Given the description of an element on the screen output the (x, y) to click on. 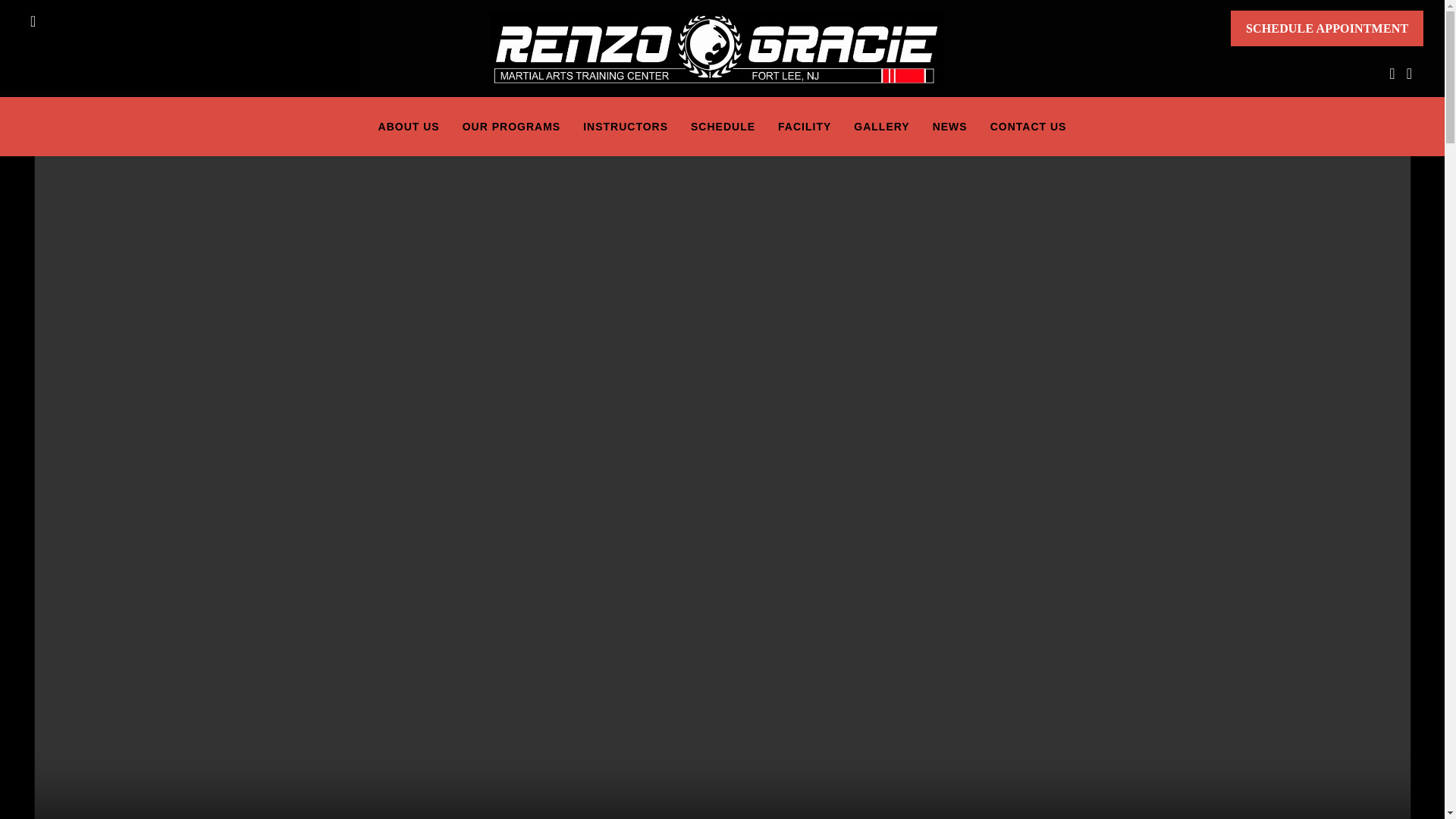
GALLERY (881, 126)
INSTRUCTORS (625, 126)
SCHEDULE APPOINTMENT (1326, 27)
ABOUT US (408, 126)
SCHEDULE (723, 126)
OUR PROGRAMS (511, 126)
201 450 9790 (83, 21)
NEWS (949, 126)
CONTACT US (1028, 126)
FACILITY (805, 126)
